Given the description of an element on the screen output the (x, y) to click on. 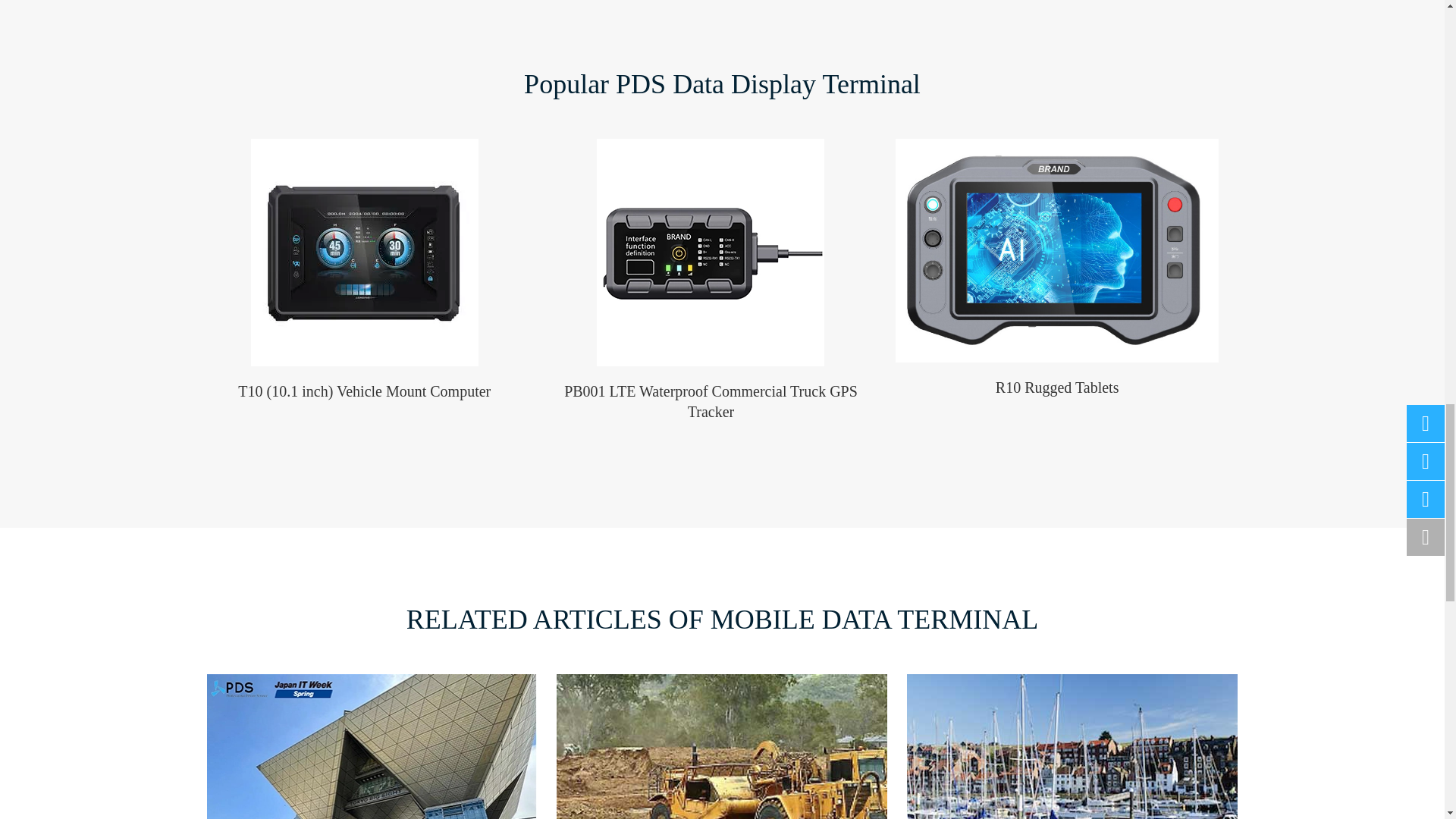
R10 Rugged Tablets (1057, 250)
PB001 LTE Waterproof Commercial Truck GPS Tracker (710, 252)
